Given the description of an element on the screen output the (x, y) to click on. 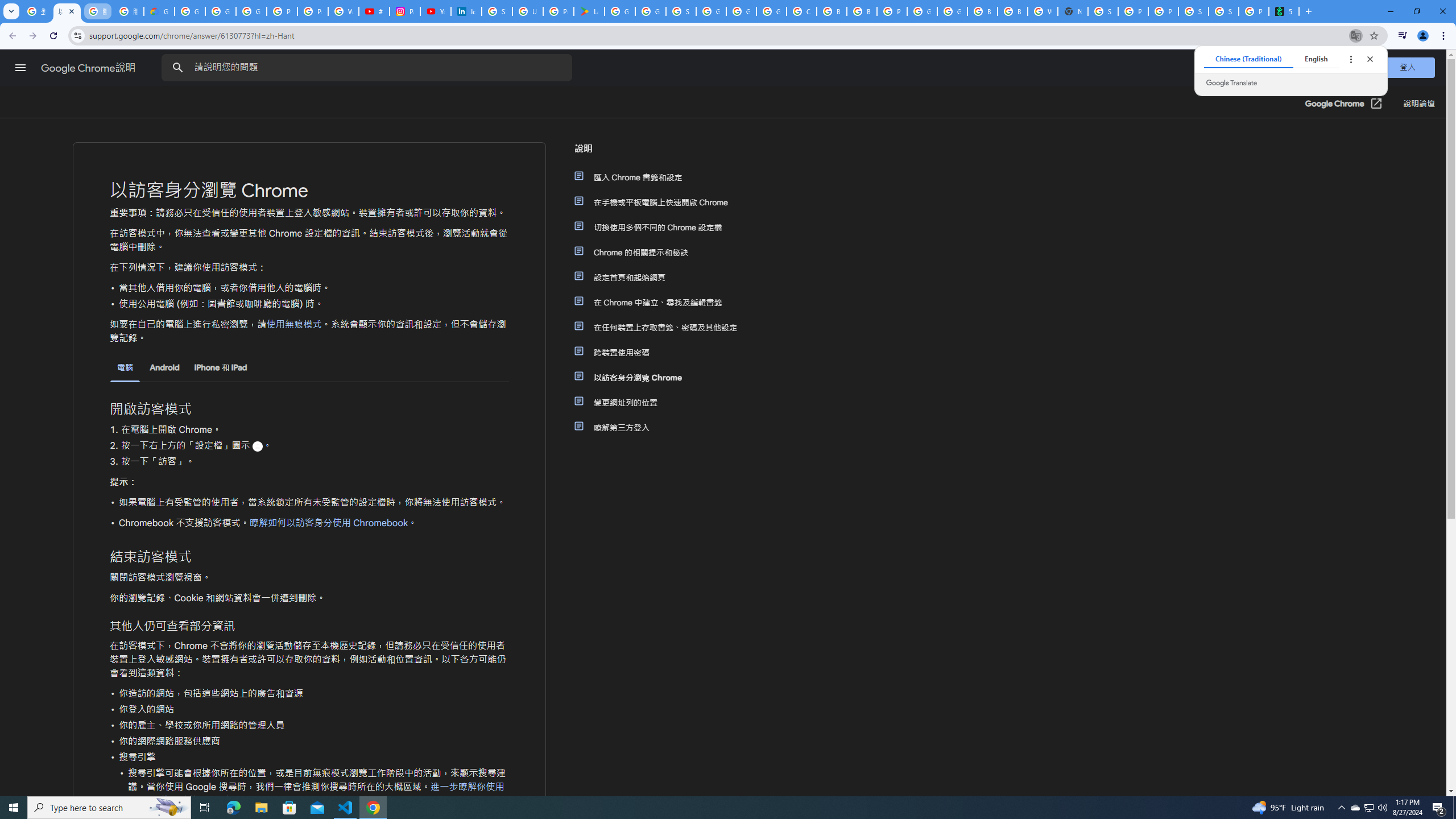
English (1315, 58)
Android (164, 367)
